Given the description of an element on the screen output the (x, y) to click on. 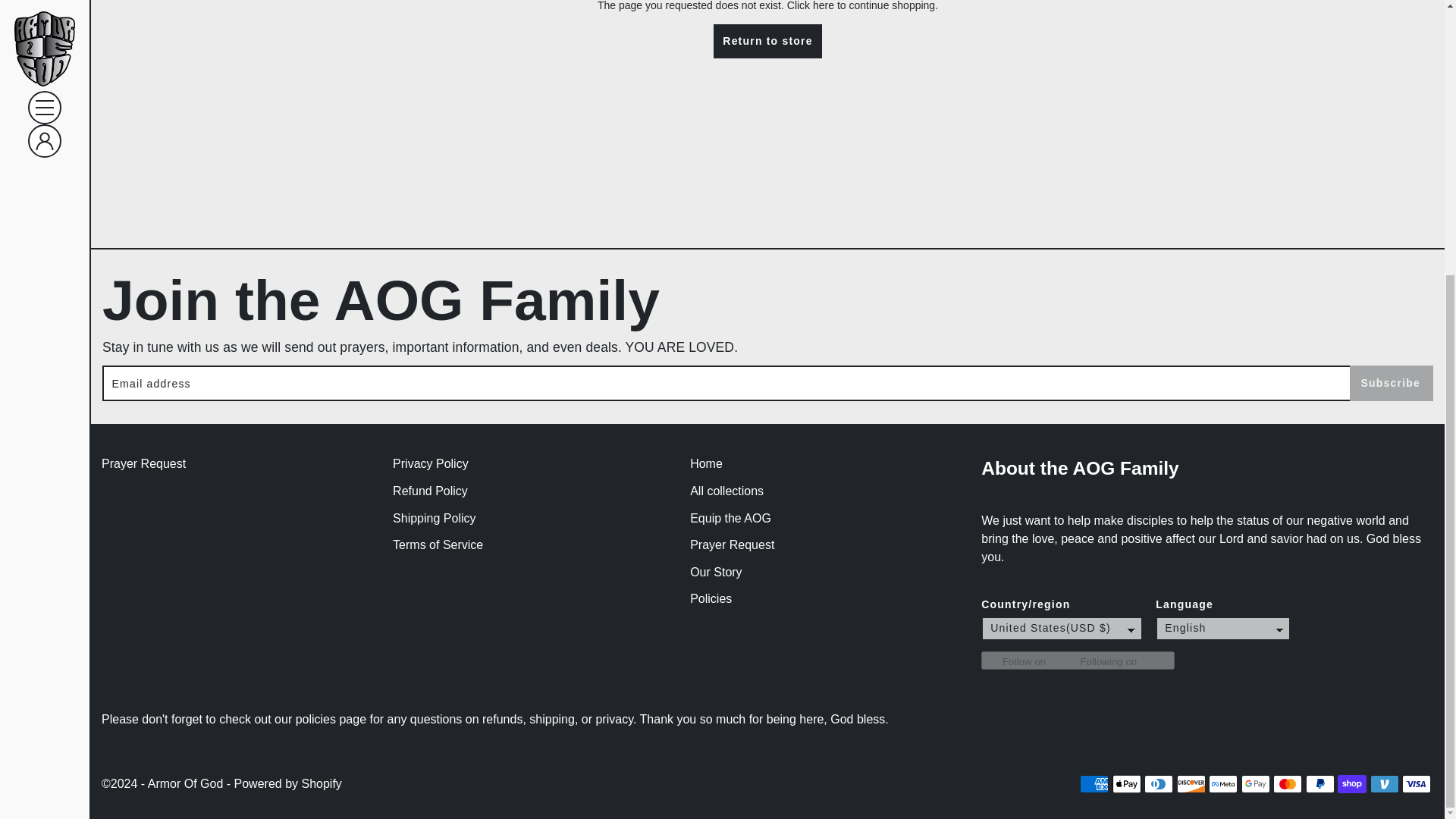
Shipping Policy (434, 518)
Visa (1416, 783)
PayPal (1320, 783)
Terms of Service (438, 545)
American Express (1094, 783)
Privacy Policy (430, 463)
Apple Pay (1126, 783)
Mastercard (1286, 783)
Return to store (767, 41)
Venmo (1384, 783)
